Given the description of an element on the screen output the (x, y) to click on. 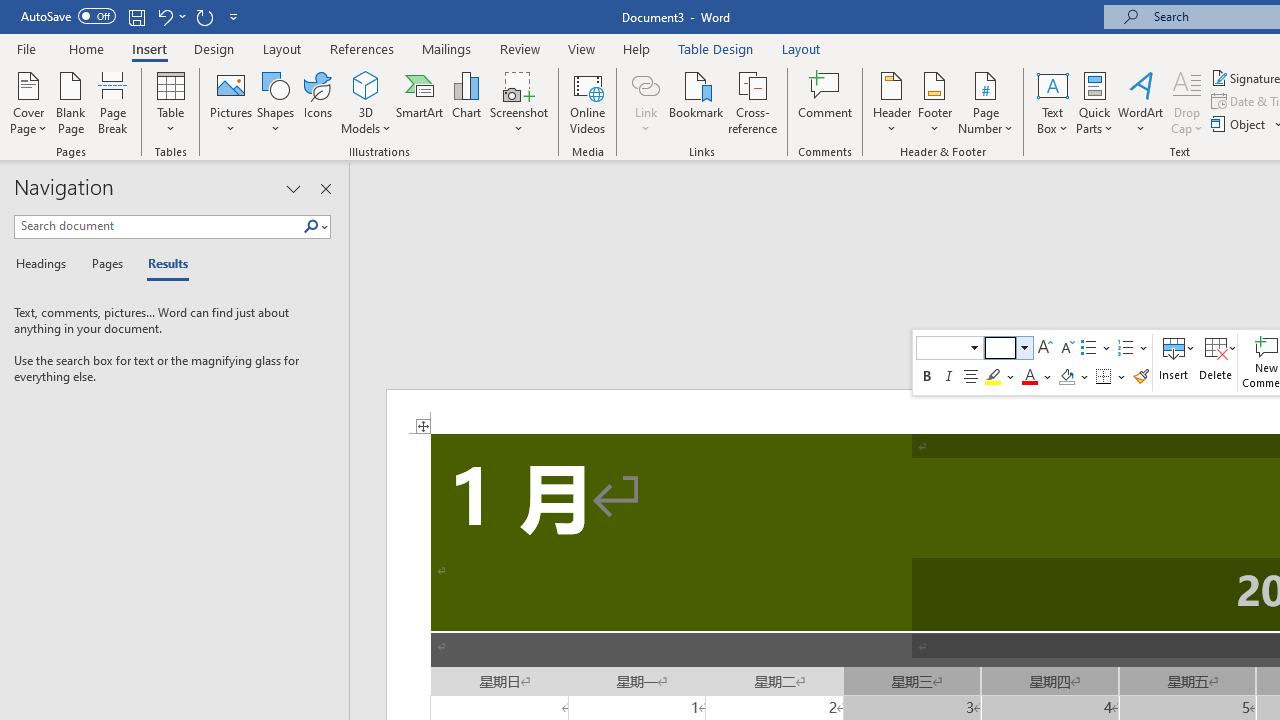
Footer (934, 102)
Blank Page (70, 102)
Header (891, 102)
